Given the description of an element on the screen output the (x, y) to click on. 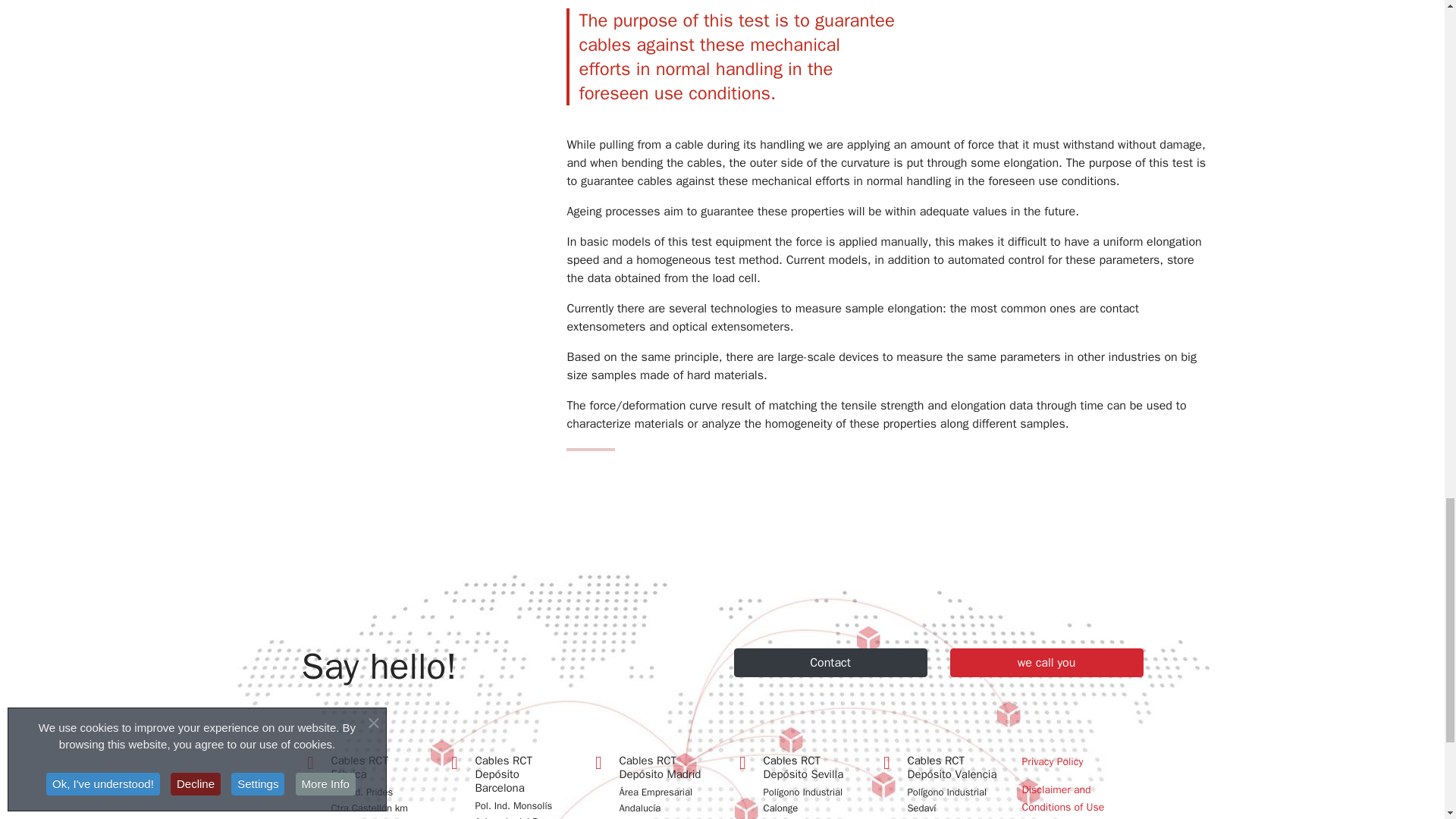
Disclaimer and Conditions of Use (1082, 798)
Contact (830, 662)
we call you (1045, 662)
Privacy Policy (1082, 761)
